Given the description of an element on the screen output the (x, y) to click on. 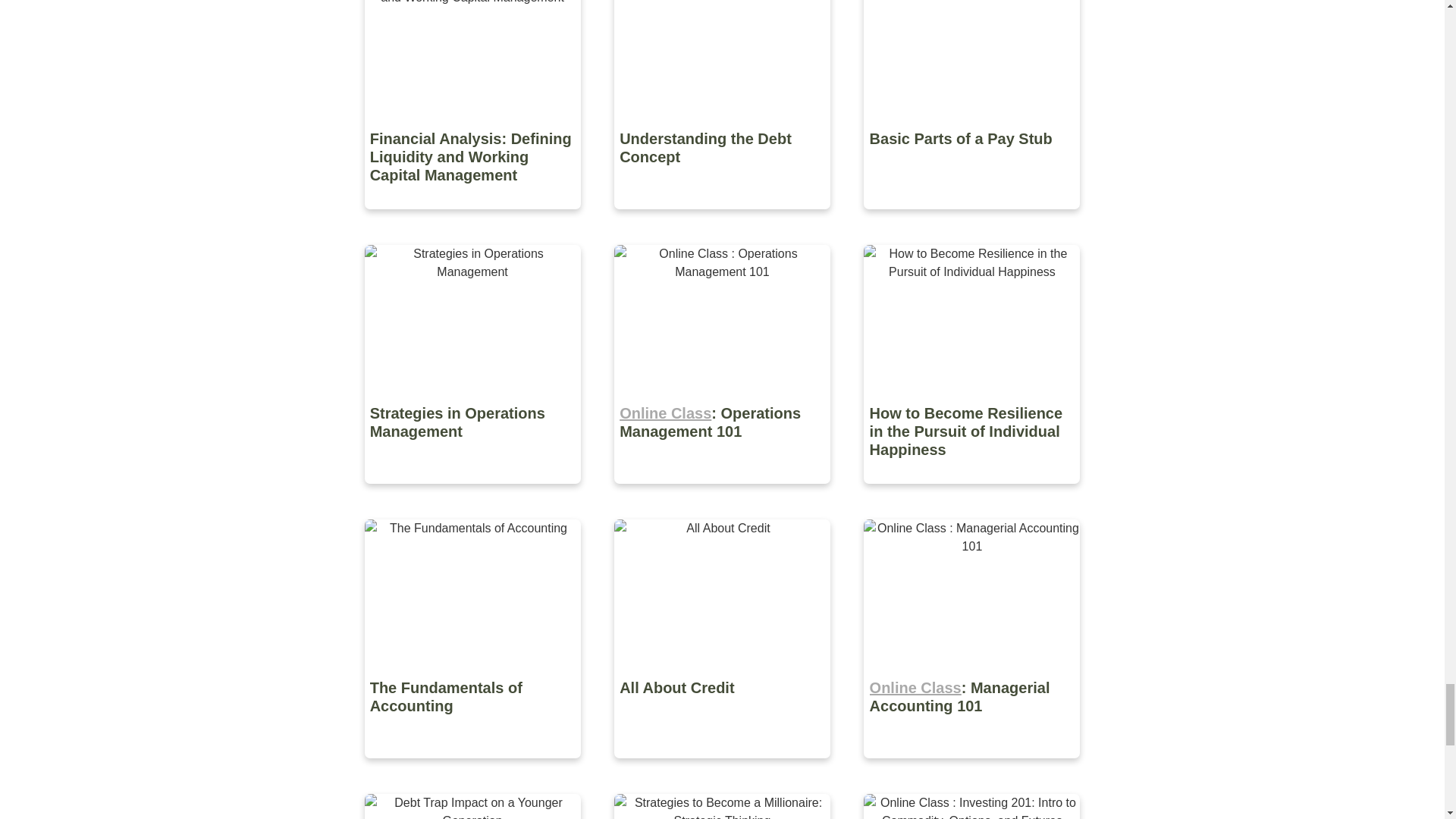
The Fundamentals of Accounting (473, 768)
Basic Parts of a Pay Stub (971, 219)
All About Credit (723, 768)
Online Class: Managerial Accounting 101 (971, 768)
Understanding the Debt Concept (723, 219)
Online Class: Operations Management 101 (723, 494)
Strategies in Operations Management (473, 494)
